Given the description of an element on the screen output the (x, y) to click on. 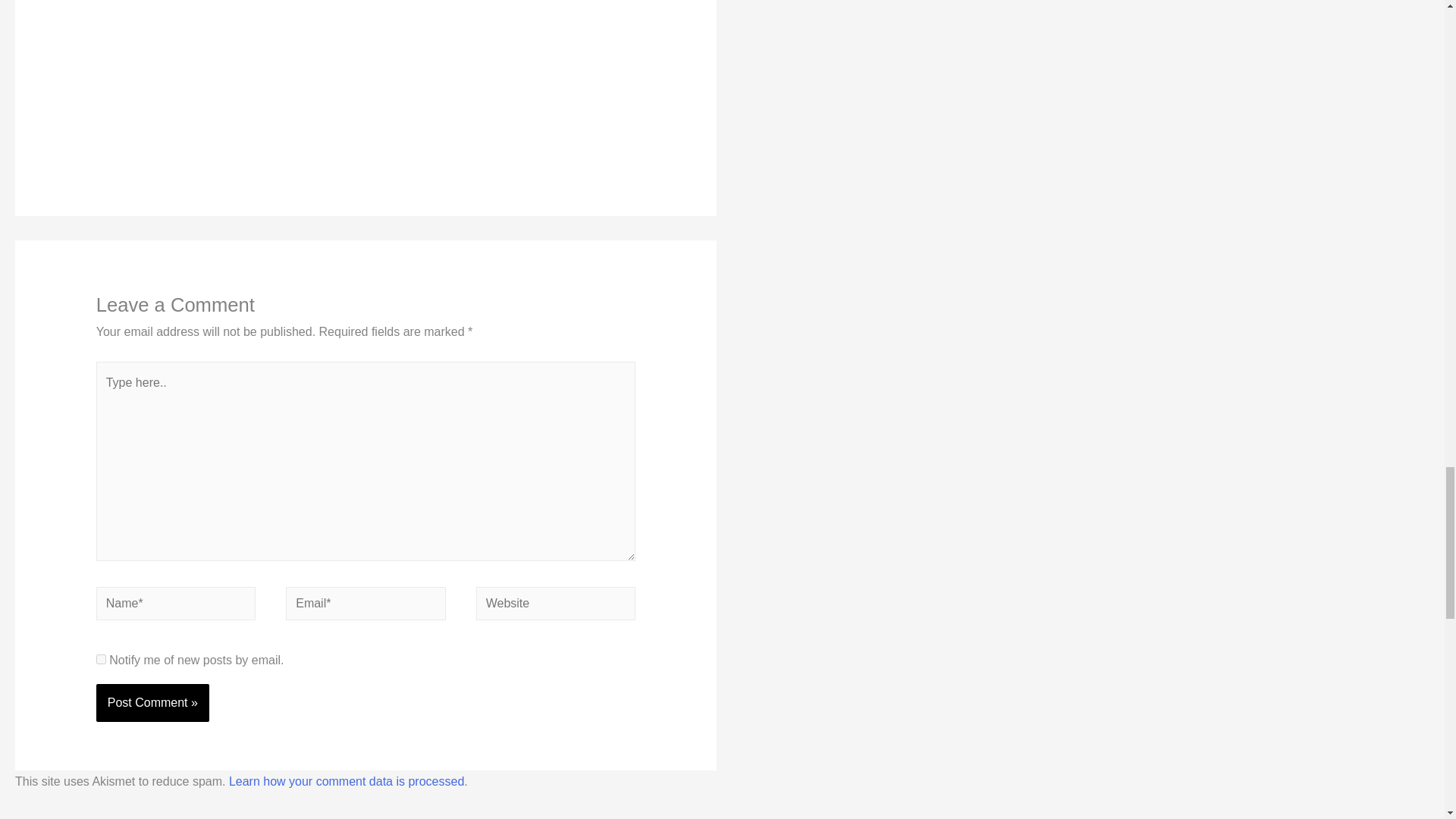
Advertisement (226, 71)
subscribe (101, 659)
